Given the description of an element on the screen output the (x, y) to click on. 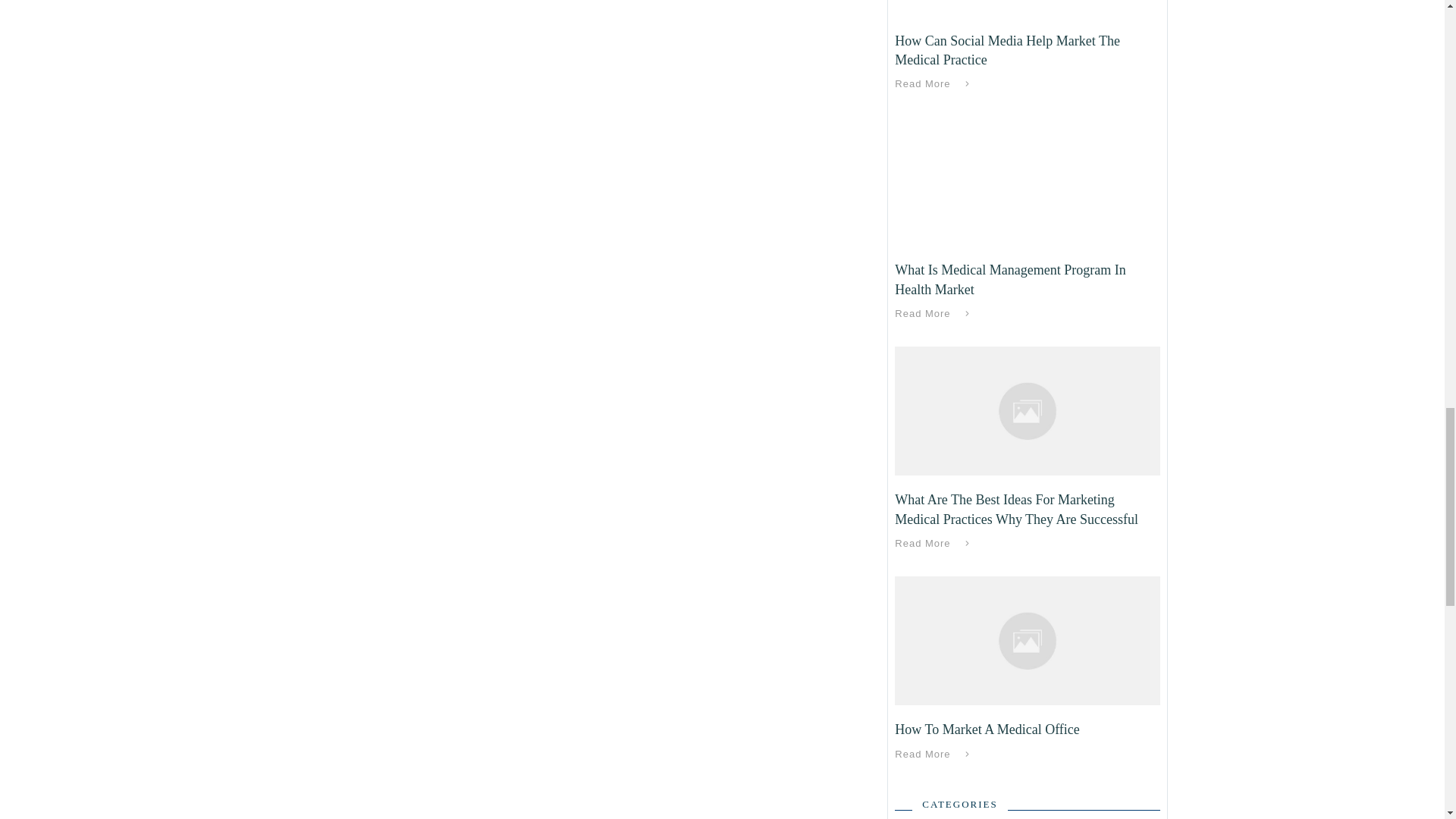
Read More (935, 84)
What Is Medical Management Program In Health Market (1010, 279)
How Can Social Media Help Market The Medical Practice (1007, 50)
Read More (935, 543)
How To Market A Medical Office (987, 729)
What Is Medical Management Program In Health Market (1010, 279)
How Can Social Media Help Market The Medical Practice (1007, 50)
Read More (935, 313)
